Given the description of an element on the screen output the (x, y) to click on. 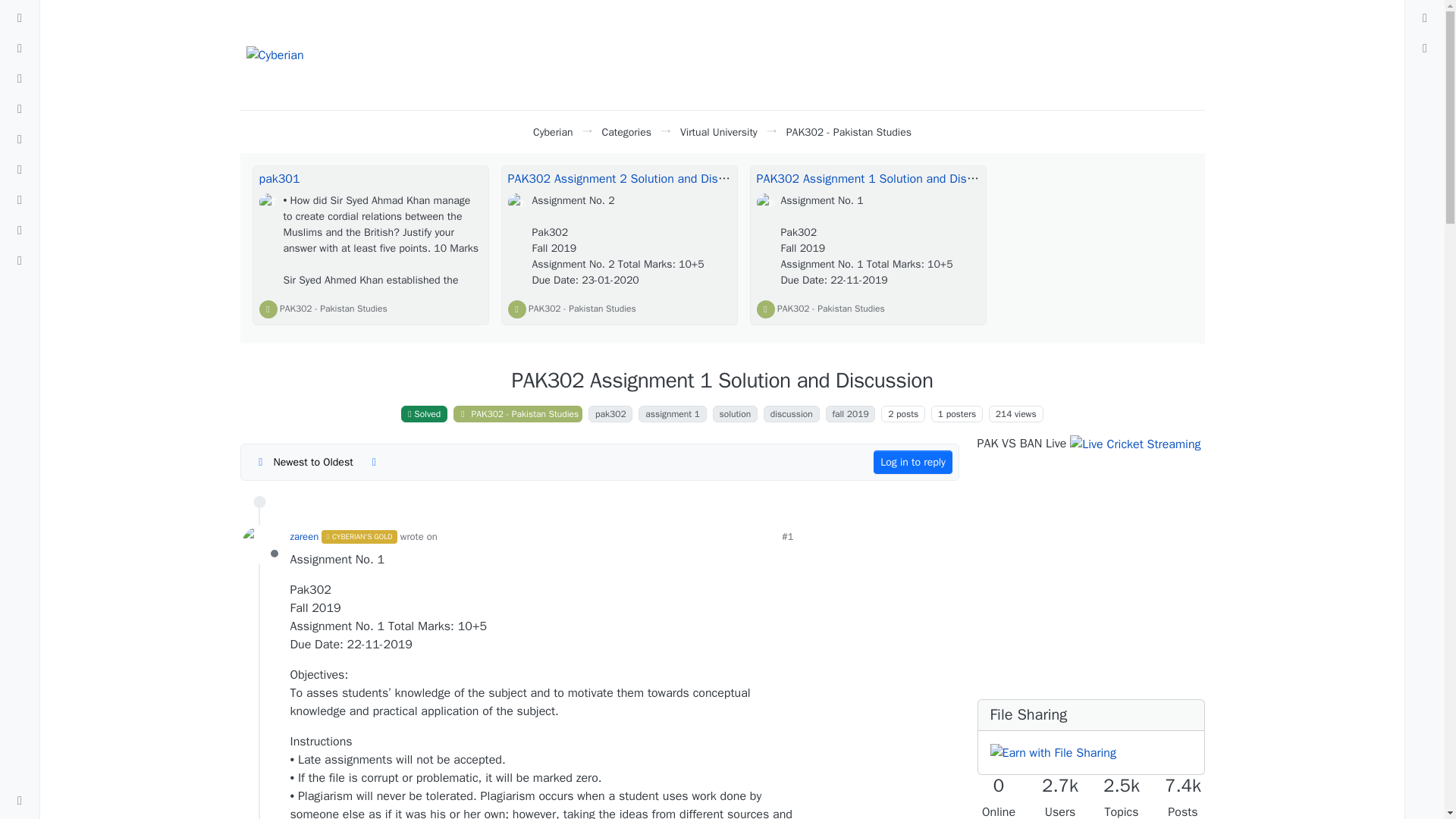
Solved (19, 260)
solution (735, 413)
Newest to Oldest (303, 462)
Pro Blog (19, 139)
pak301 (279, 178)
PAK302 - Pakistan Studies (582, 308)
Tags (19, 78)
fall 2019 (850, 413)
Unsolved (19, 230)
Categories (626, 132)
